Given the description of an element on the screen output the (x, y) to click on. 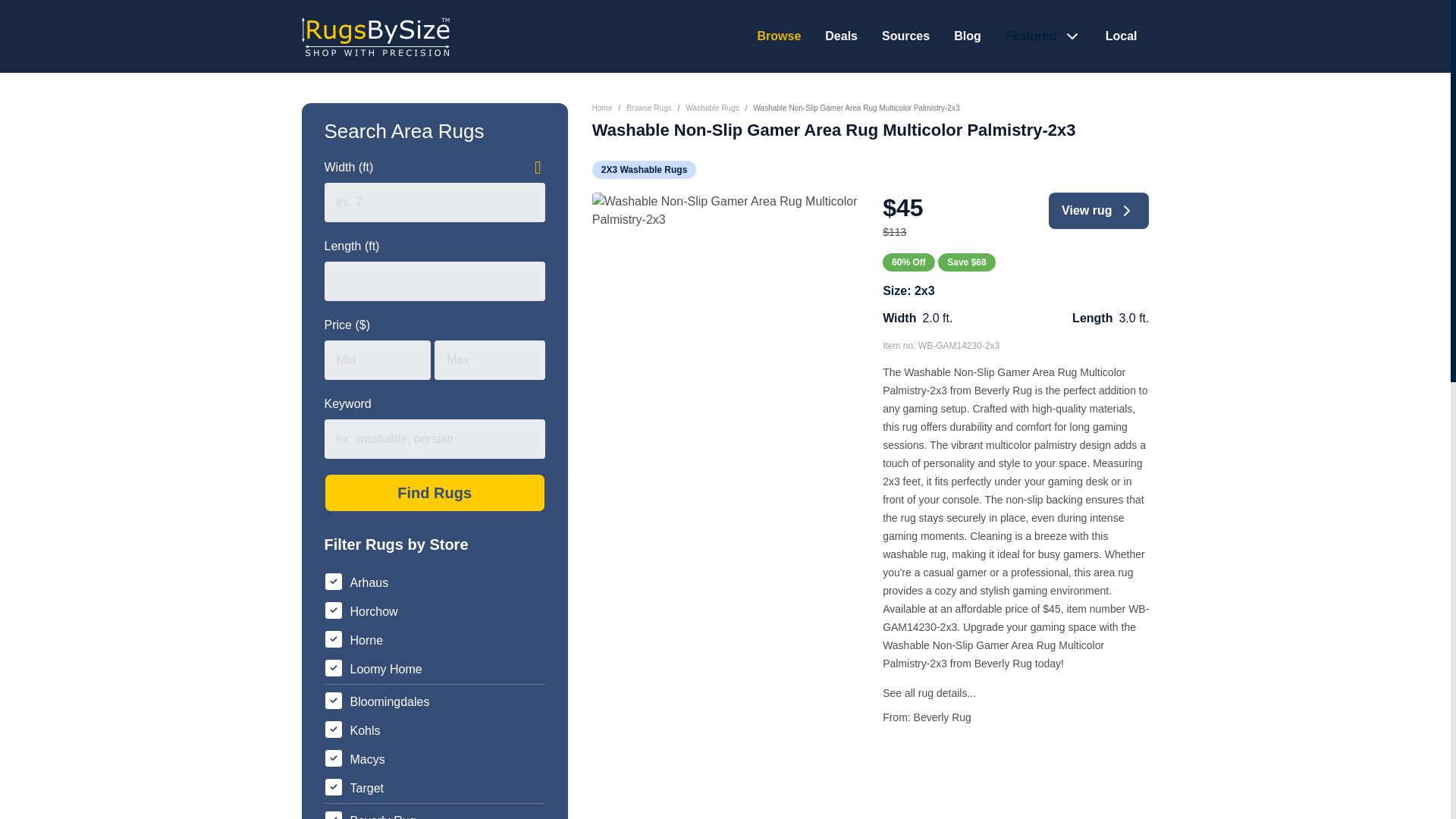
Featured (1032, 35)
Sources (906, 35)
Browse Rugs (648, 108)
Browse (778, 35)
Deals (841, 35)
See all rug details... (928, 693)
Beverly Rug (942, 717)
Local (1121, 35)
Find Rugs (434, 492)
Blog (967, 35)
Home (602, 108)
View rug (1098, 210)
Washable Rugs (711, 108)
